Given the description of an element on the screen output the (x, y) to click on. 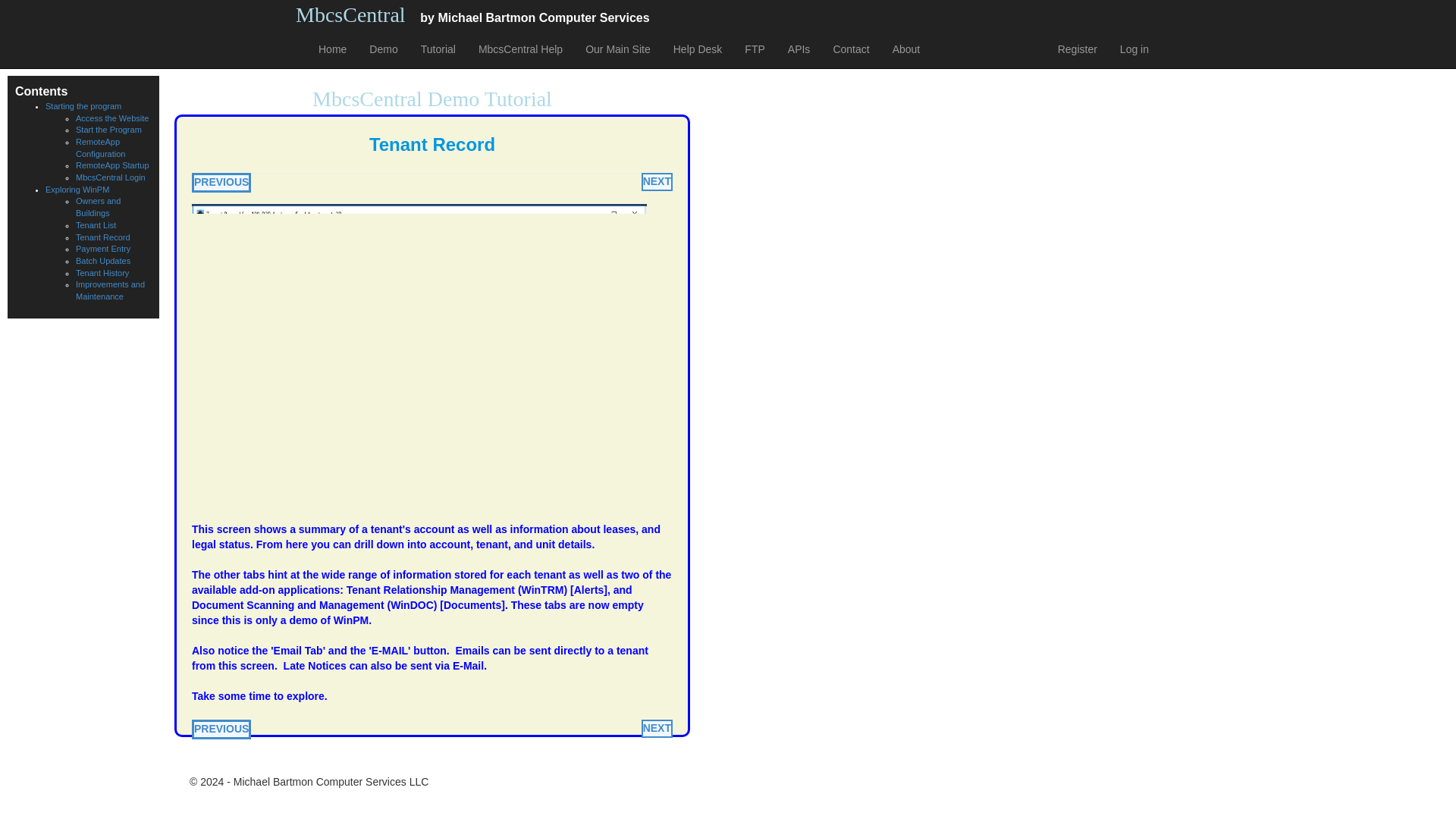
Our Main Site (617, 48)
PREVIOUS (221, 182)
Tenant Record (103, 236)
Improvements and Maintenance (109, 290)
Tenant History (102, 272)
PREVIOUS (221, 729)
MbcsCentral Login (110, 176)
Access the Website (111, 117)
Demo (383, 48)
APIs (799, 48)
Starting the program (82, 105)
Contact (850, 48)
Start the Program (108, 129)
About (905, 48)
Register (1077, 48)
